Given the description of an element on the screen output the (x, y) to click on. 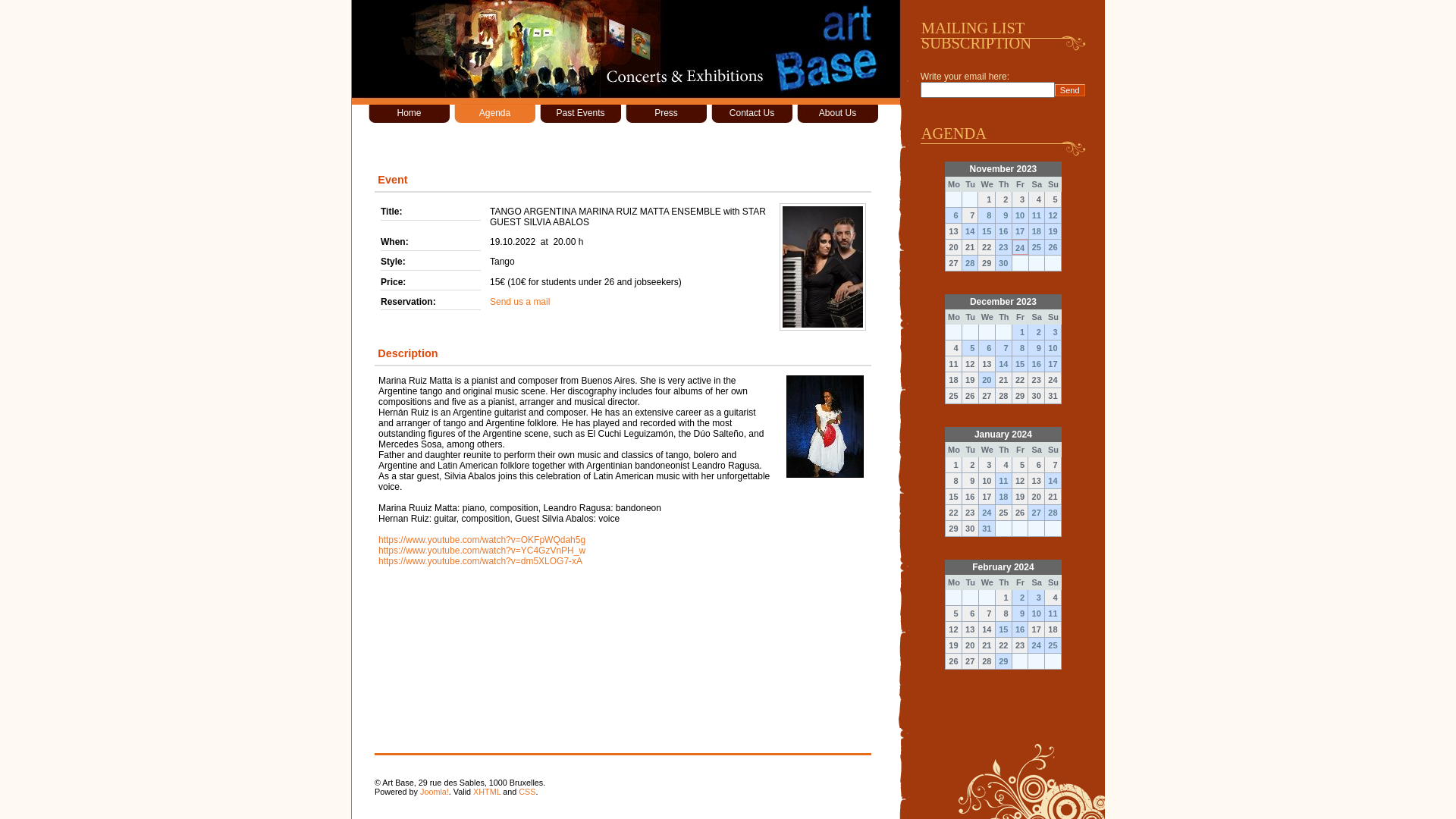
10 Element type: text (1019, 214)
  7 Element type: text (1003, 347)
28 Element type: text (970, 262)
24 Element type: text (1036, 644)
XHTML Element type: text (486, 791)
30 Element type: text (1003, 262)
19 Element type: text (1052, 230)
  3 Element type: text (1052, 331)
16 Element type: text (1003, 230)
  9 Element type: text (1003, 214)
Press Element type: text (665, 113)
17 Element type: text (1052, 363)
Home Element type: text (408, 113)
24 Element type: text (1019, 246)
Send Element type: text (1069, 90)
12 Element type: text (1052, 214)
28 Element type: text (1052, 512)
23 Element type: text (1003, 246)
15 Element type: text (986, 230)
18 Element type: text (1036, 230)
https://www.youtube.com/watch?v=OKFpWQdah5g Element type: text (481, 539)
18 Element type: text (1003, 496)
17 Element type: text (1019, 230)
31 Element type: text (986, 528)
  1 Element type: text (1020, 331)
About Us Element type: text (837, 113)
Click to enlarge Element type: hover (822, 266)
https://www.youtube.com/watch?v=YC4GzVnPH_w Element type: text (481, 550)
29 Element type: text (1003, 660)
15 Element type: text (1020, 363)
  8 Element type: text (1020, 347)
16 Element type: text (1036, 363)
27 Element type: text (1036, 512)
https://www.youtube.com/watch?v=dm5XLOG7-xA Element type: text (480, 560)
25 Element type: text (1036, 246)
16 Element type: text (1020, 629)
14 Element type: text (1052, 480)
15 Element type: text (1003, 629)
  6 Element type: text (953, 214)
10 Element type: text (1036, 613)
24 Element type: text (986, 512)
  2 Element type: text (1020, 597)
  5 Element type: text (970, 347)
  3 Element type: text (1036, 597)
26 Element type: text (1052, 246)
Agenda Element type: text (494, 113)
14 Element type: text (1003, 363)
10 Element type: text (1052, 347)
11 Element type: text (1036, 214)
CSS Element type: text (526, 791)
14 Element type: text (970, 230)
  9 Element type: text (1036, 347)
  8 Element type: text (986, 214)
11 Element type: text (1003, 480)
  6 Element type: text (986, 347)
25 Element type: text (1052, 644)
Contact Us Element type: text (751, 113)
20 Element type: text (986, 379)
11 Element type: text (1052, 613)
Send us a mail Element type: text (519, 301)
  2 Element type: text (1036, 331)
Joomla! Element type: text (434, 791)
Past Events Element type: text (580, 113)
  9 Element type: text (1020, 613)
